Given the description of an element on the screen output the (x, y) to click on. 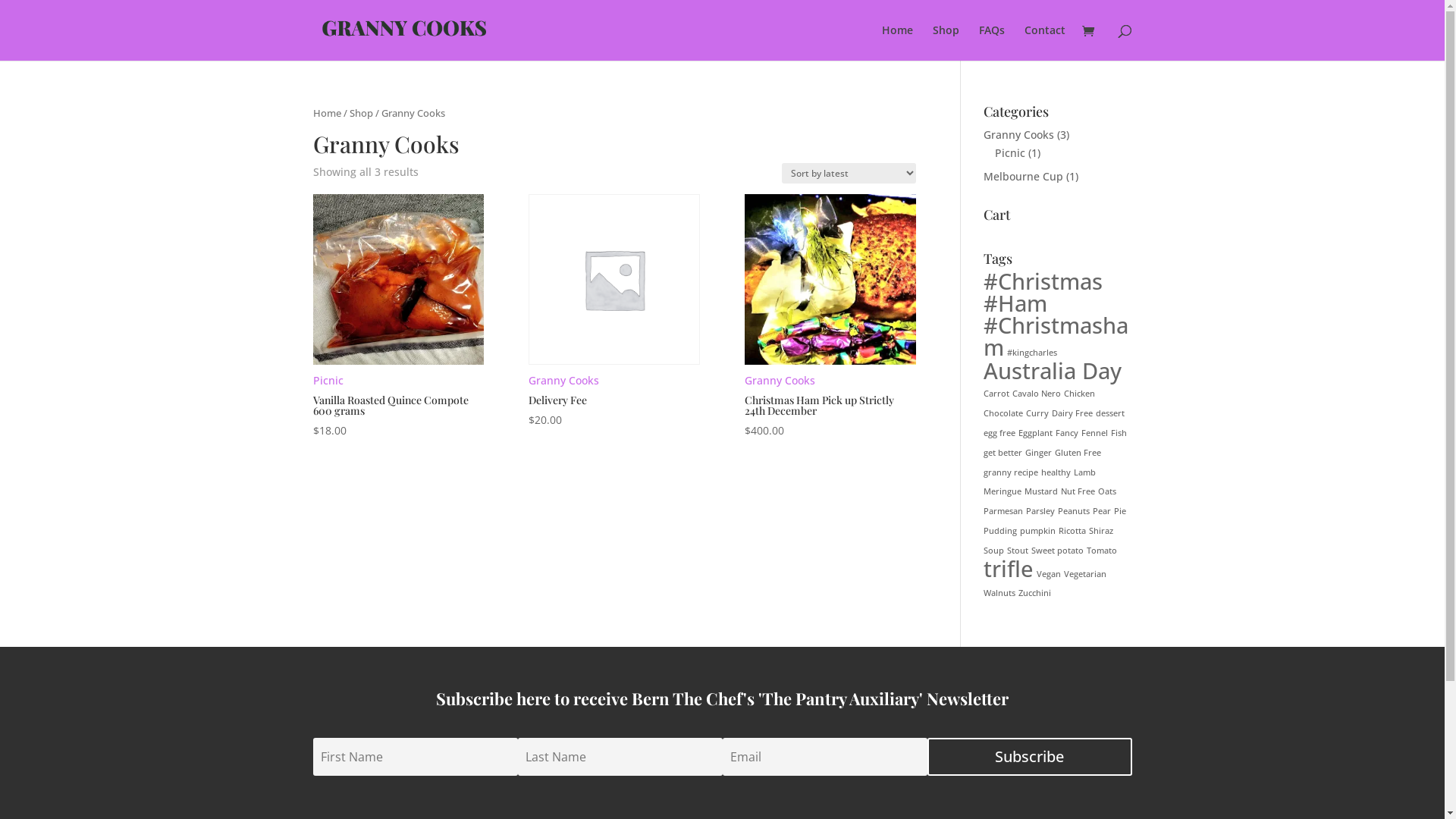
Pudding Element type: text (999, 530)
trifle Element type: text (1008, 568)
Parsley Element type: text (1040, 510)
Chocolate Element type: text (1002, 412)
Fennel Element type: text (1094, 432)
Granny Cooks Element type: text (1018, 134)
Gluten Free Element type: text (1077, 452)
Picnic Element type: text (1009, 152)
Curry Element type: text (1037, 412)
Oats Element type: text (1107, 491)
Melbourne Cup Element type: text (1023, 176)
Zucchini Element type: text (1034, 592)
Dairy Free Element type: text (1071, 412)
Stout Element type: text (1017, 550)
pumpkin Element type: text (1037, 530)
Fish Element type: text (1118, 432)
Tomato Element type: text (1101, 550)
Vegetarian Element type: text (1084, 573)
Contact Element type: text (1043, 42)
Mustard Element type: text (1040, 491)
Subscribe Element type: text (1028, 756)
get better Element type: text (1002, 452)
Parmesan Element type: text (1002, 510)
Nut Free Element type: text (1077, 491)
egg free Element type: text (999, 432)
Home Element type: text (326, 112)
Granny Cooks
Delivery Fee
$20.00 Element type: text (613, 311)
Soup Element type: text (993, 550)
Australia Day Element type: text (1052, 370)
Lamb Element type: text (1084, 472)
#Christmas #Ham #Christmasham Element type: text (1055, 313)
Cavalo Nero Element type: text (1036, 393)
Shop Element type: text (360, 112)
Ginger Element type: text (1038, 452)
Meringue Element type: text (1002, 491)
Vegan Element type: text (1048, 573)
dessert Element type: text (1109, 412)
Shiraz Element type: text (1100, 530)
Pie Element type: text (1119, 510)
Walnuts Element type: text (999, 592)
Picnic
Vanilla Roasted Quince Compote 600 grams
$18.00 Element type: text (397, 316)
Pear Element type: text (1101, 510)
Shop Element type: text (945, 42)
FAQs Element type: text (991, 42)
Sweet potato Element type: text (1057, 550)
Chicken Element type: text (1079, 393)
Carrot Element type: text (996, 393)
Eggplant Element type: text (1035, 432)
Ricotta Element type: text (1071, 530)
Peanuts Element type: text (1073, 510)
granny recipe Element type: text (1010, 472)
Home Element type: text (896, 42)
#kingcharles Element type: text (1032, 352)
healthy Element type: text (1055, 472)
Fancy Element type: text (1066, 432)
